Given the description of an element on the screen output the (x, y) to click on. 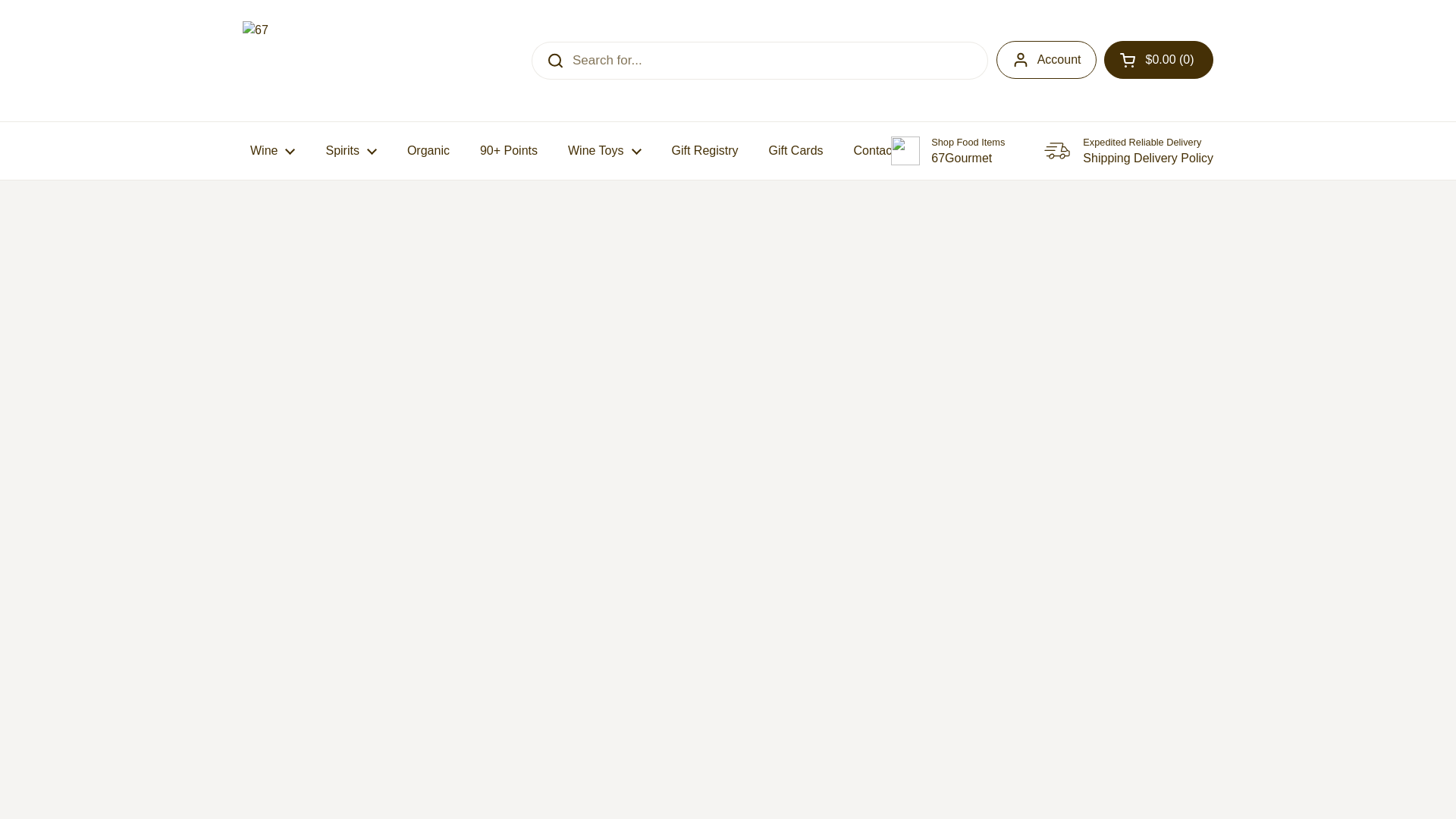
Wine (272, 150)
Open cart (1157, 59)
Account (1046, 59)
67 (341, 60)
